Given the description of an element on the screen output the (x, y) to click on. 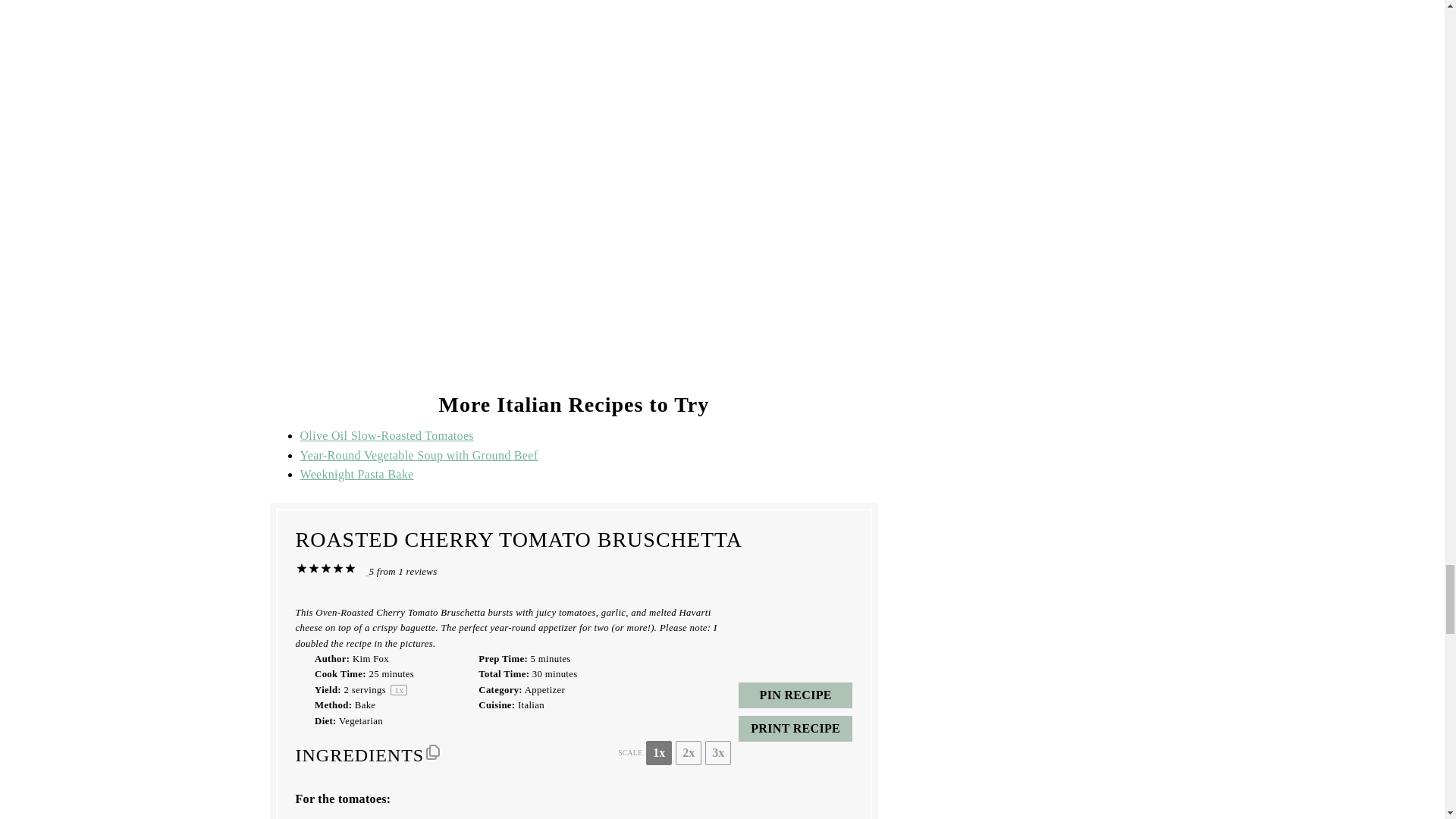
PIN RECIPE (794, 695)
2x (688, 752)
Weeknight Pasta Bake (356, 473)
5 from 1 reviews (370, 570)
Year-Round Vegetable Soup with Ground Beef (418, 454)
Copy to clipboard Copy to clipboard (432, 751)
3x (717, 752)
Copy to clipboard Copy to clipboard (432, 751)
1x (658, 752)
Olive Oil Slow-Roasted Tomatoes (386, 435)
PRINT RECIPE (794, 728)
